Given the description of an element on the screen output the (x, y) to click on. 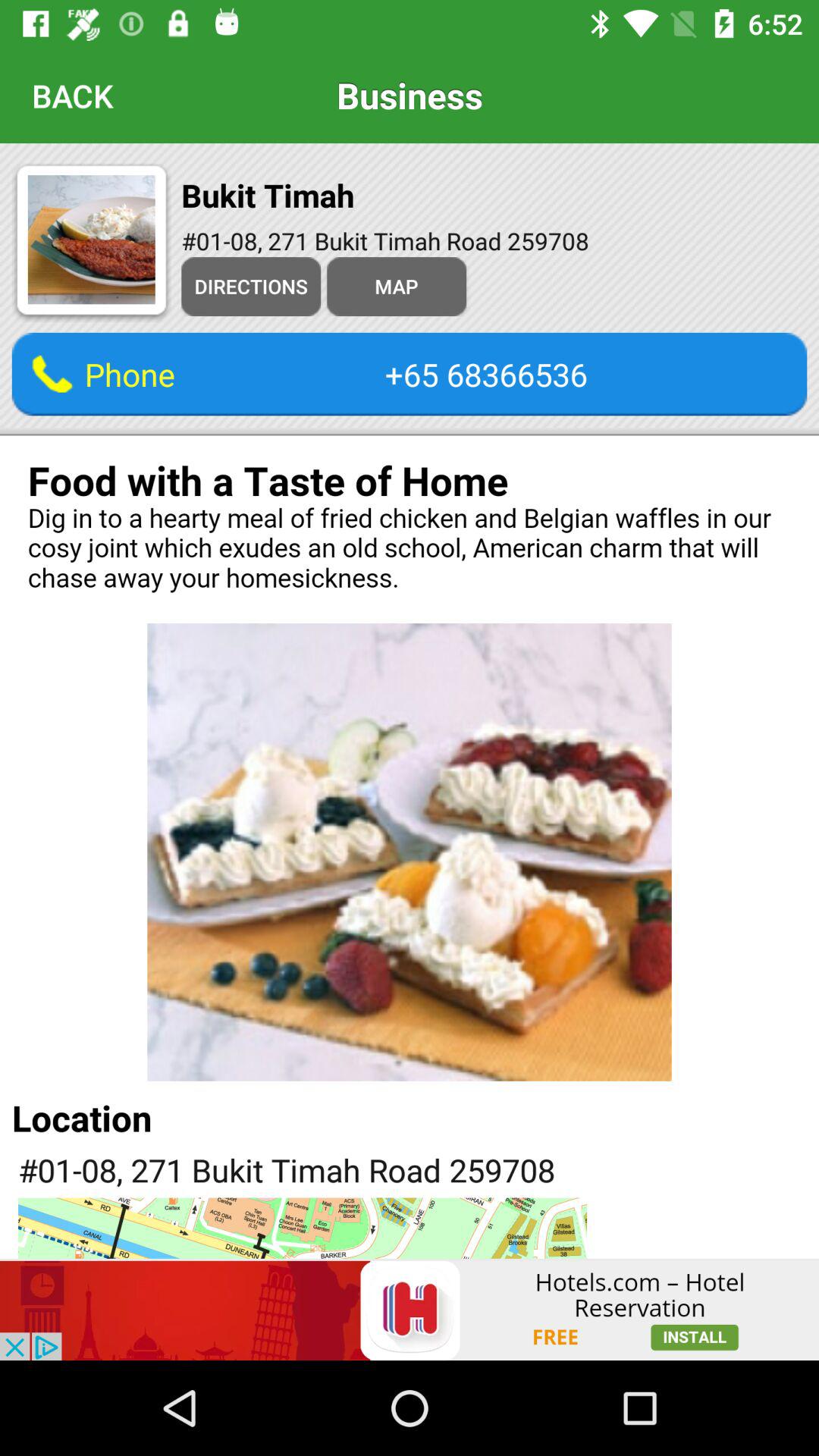
select the dish which is beside bukit timah (91, 242)
select the image which is above the location (409, 852)
click on the image which is below the location (302, 1228)
